Given the description of an element on the screen output the (x, y) to click on. 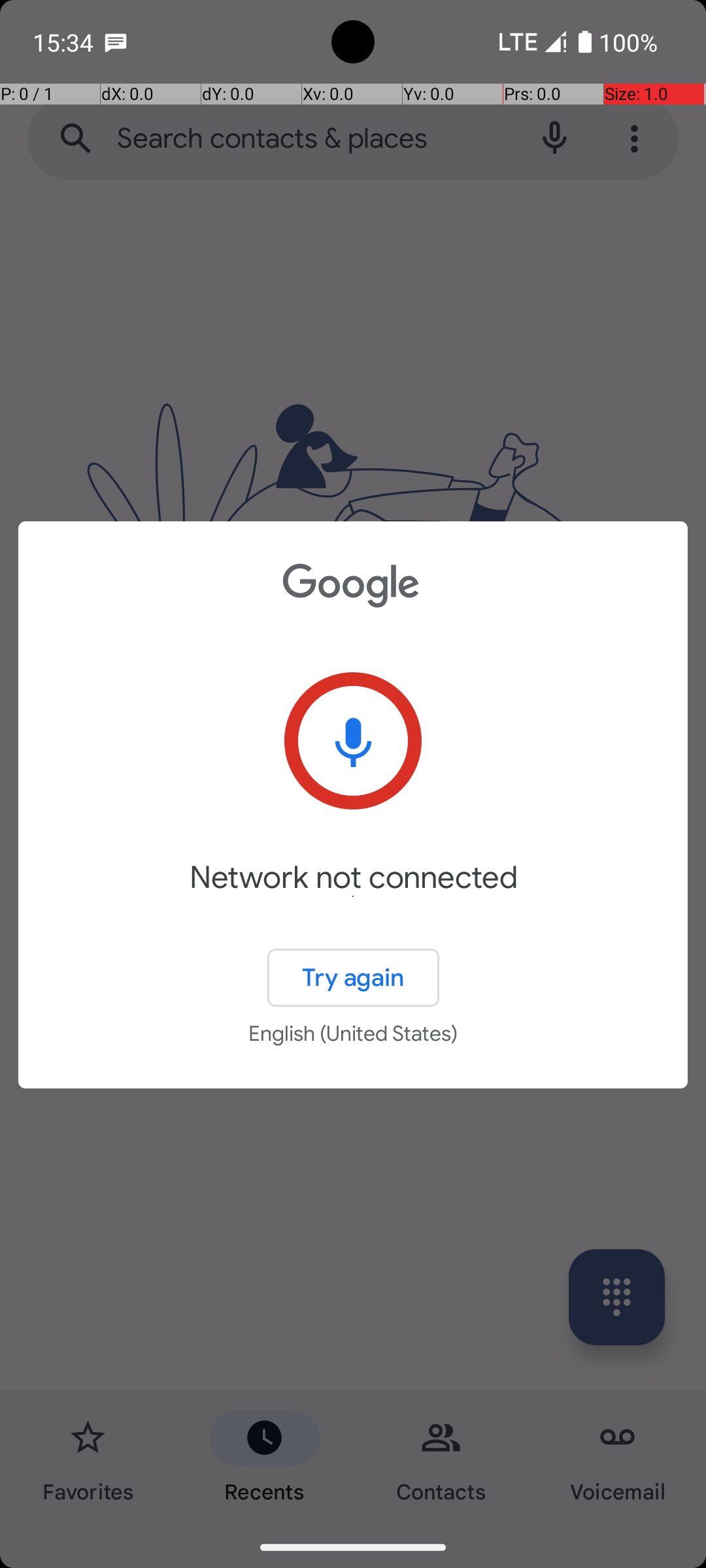
Network not connected Element type: android.widget.TextView (352, 895)
Try again Element type: android.widget.Button (353, 977)
